Given the description of an element on the screen output the (x, y) to click on. 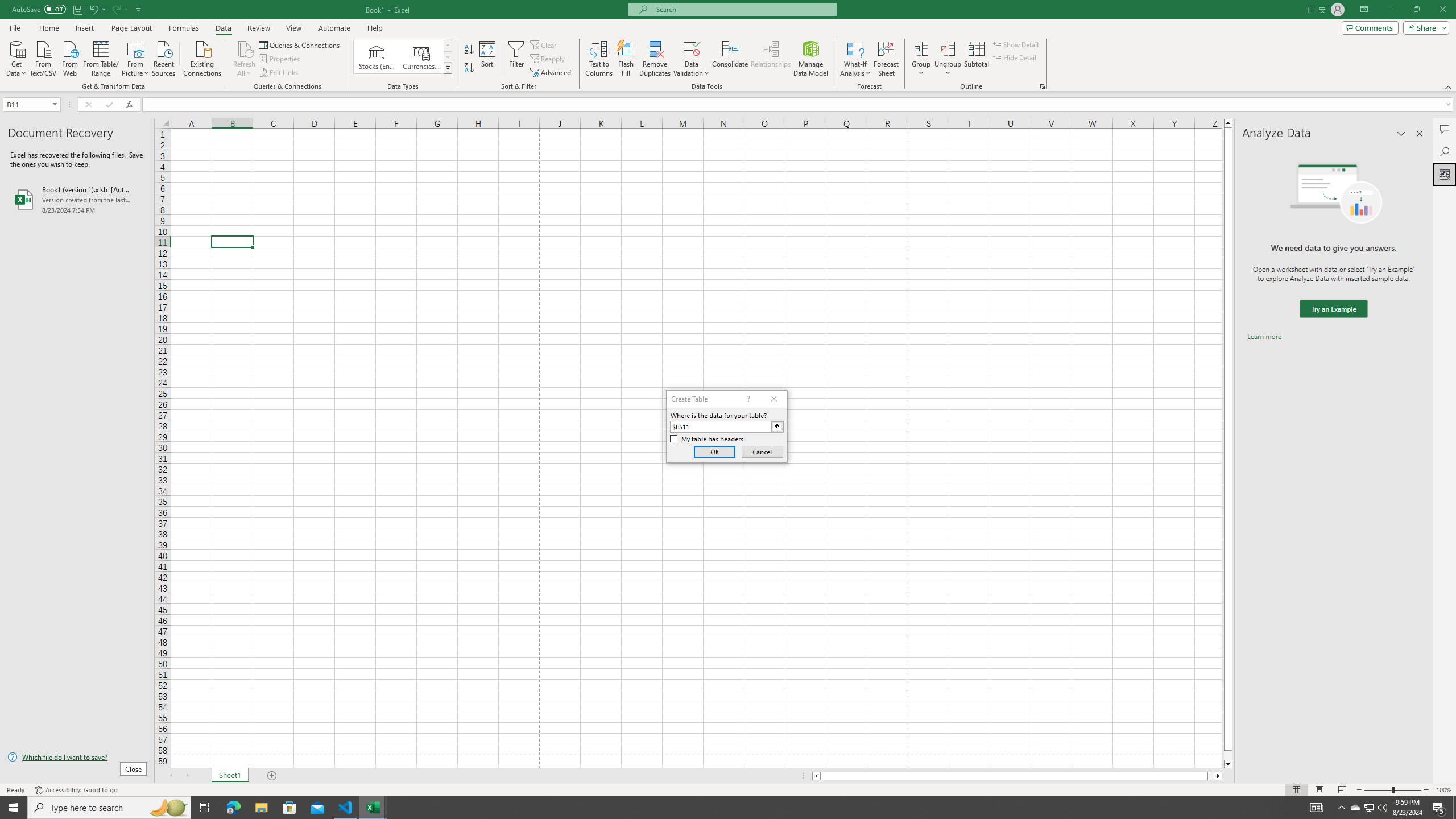
Consolidate... (729, 58)
